Given the description of an element on the screen output the (x, y) to click on. 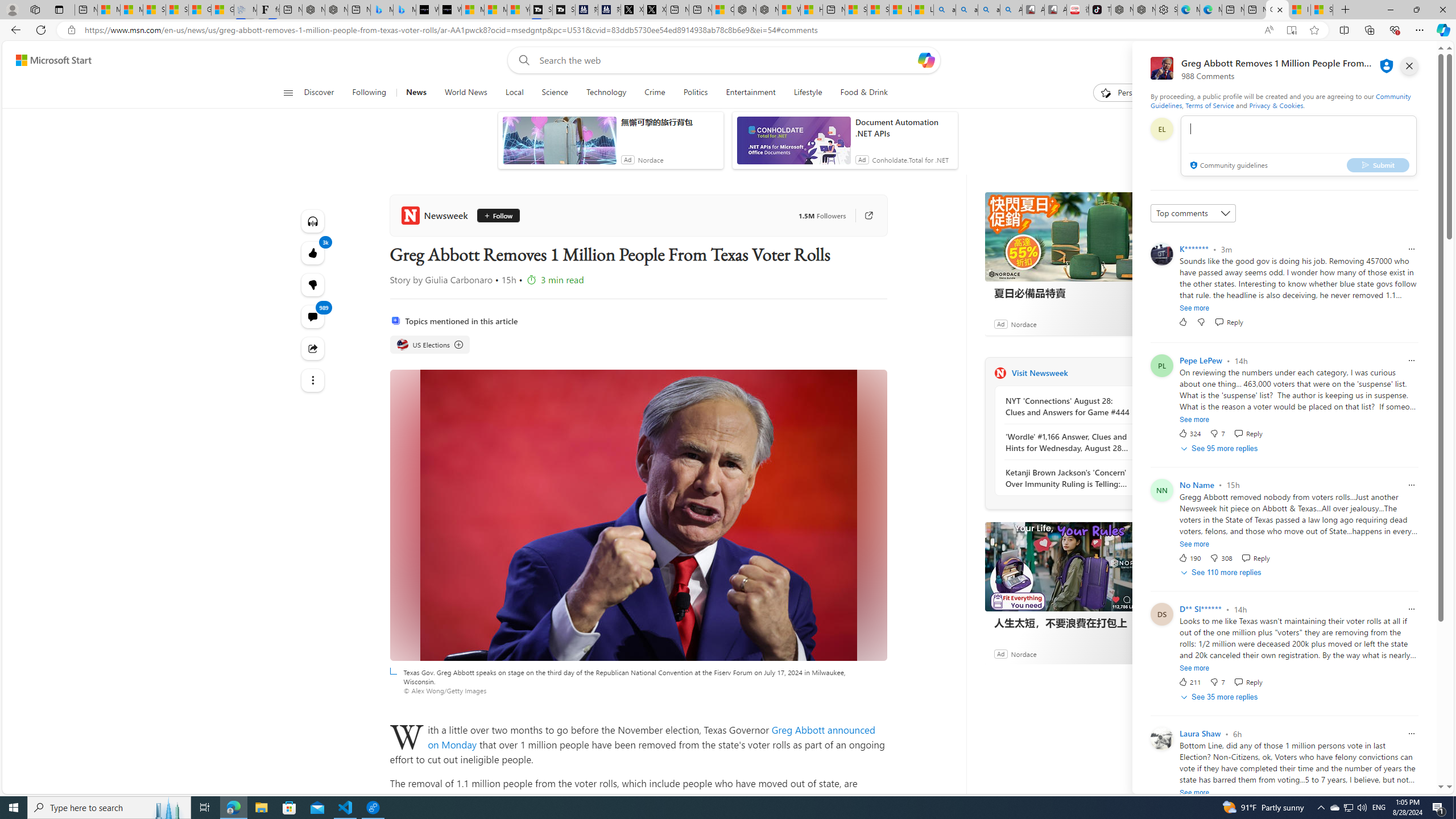
Personalize (1128, 92)
Local (514, 92)
